Given the description of an element on the screen output the (x, y) to click on. 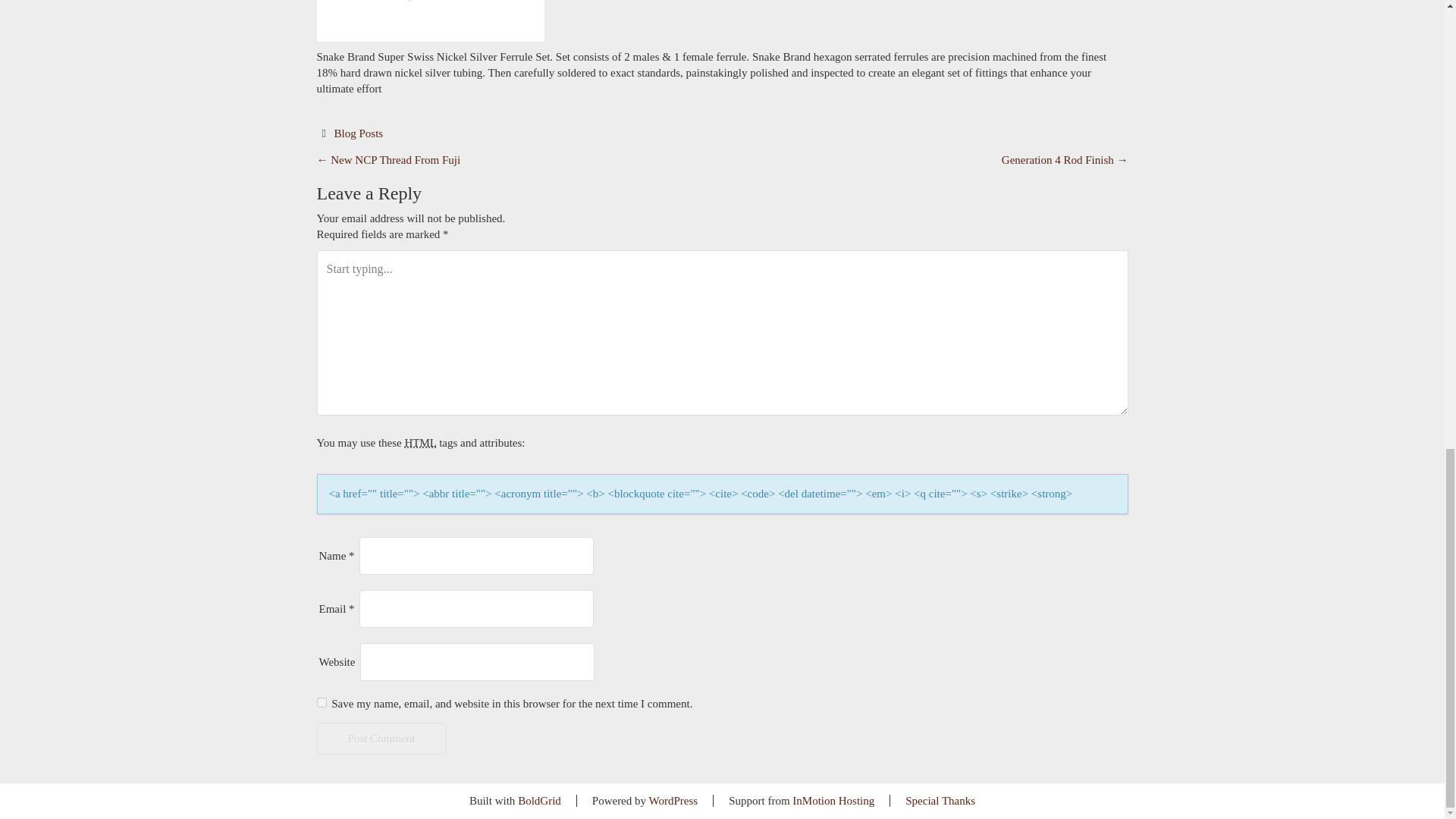
Post Comment (381, 738)
Blog Posts (359, 133)
Special Thanks (940, 800)
InMotion Hosting (833, 800)
HyperText Markup Language (419, 442)
yes (321, 702)
Post Comment (381, 738)
BoldGrid (539, 800)
WordPress (673, 800)
